Given the description of an element on the screen output the (x, y) to click on. 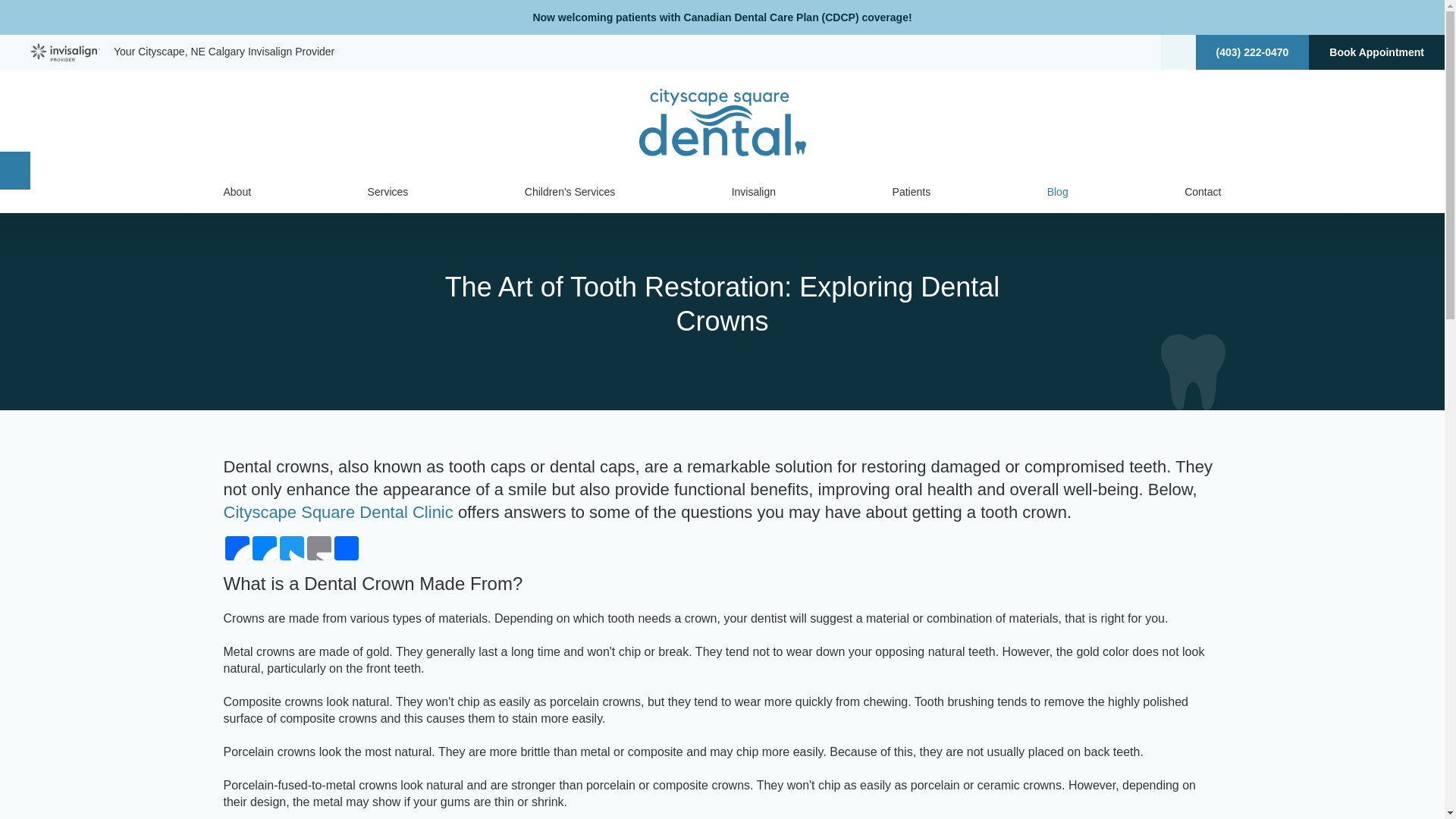
Open Search Box (1177, 52)
Your Cityscape, NE Calgary Invisalign Provider (182, 52)
About (237, 191)
